Given the description of an element on the screen output the (x, y) to click on. 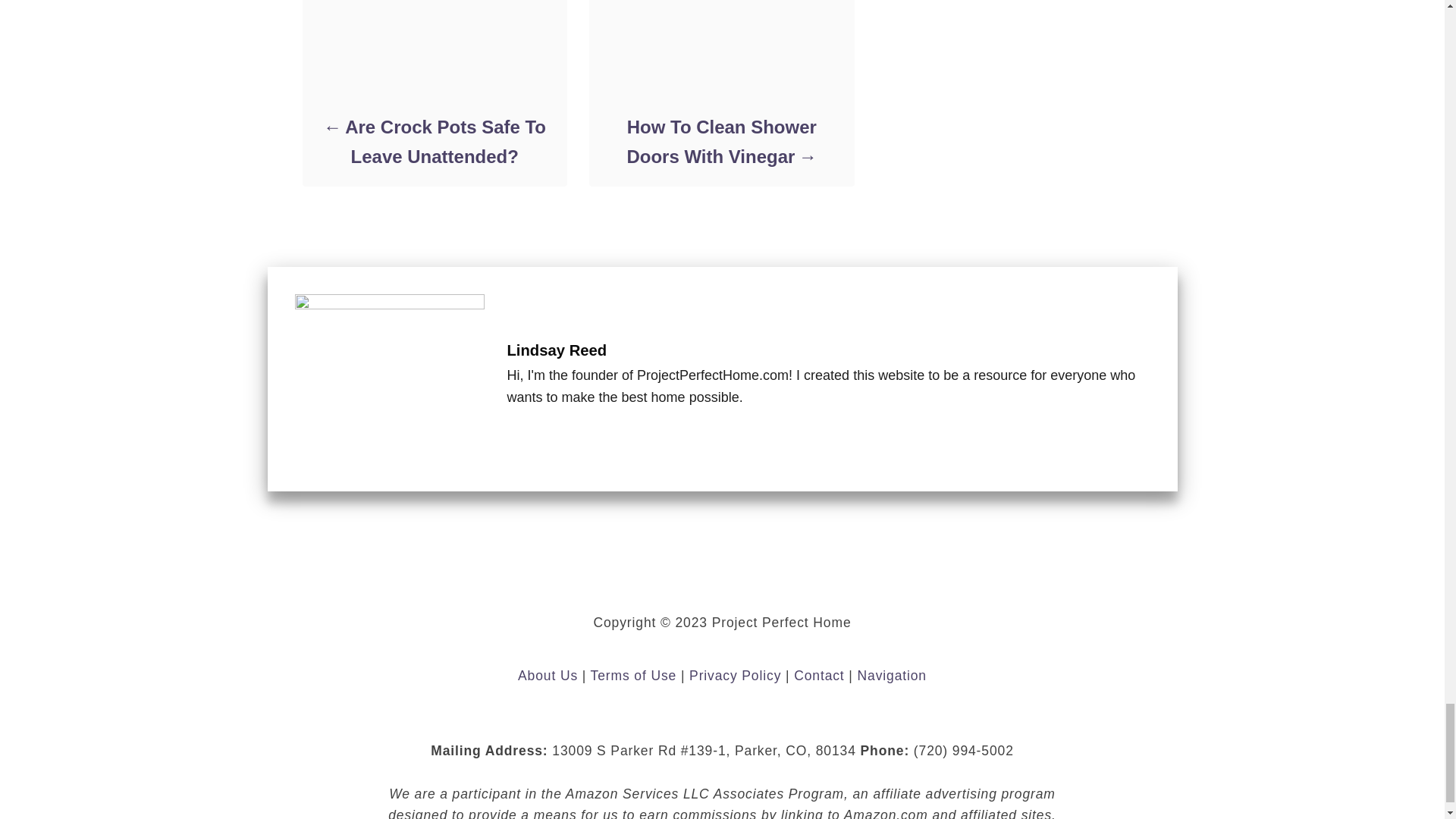
Privacy Policy (734, 675)
Terms of Use (634, 675)
About Us (548, 675)
Are Crock Pots Safe To Leave Unattended? (434, 141)
Navigation (891, 675)
Contact (818, 675)
How To Clean Shower Doors With Vinegar (721, 141)
